Given the description of an element on the screen output the (x, y) to click on. 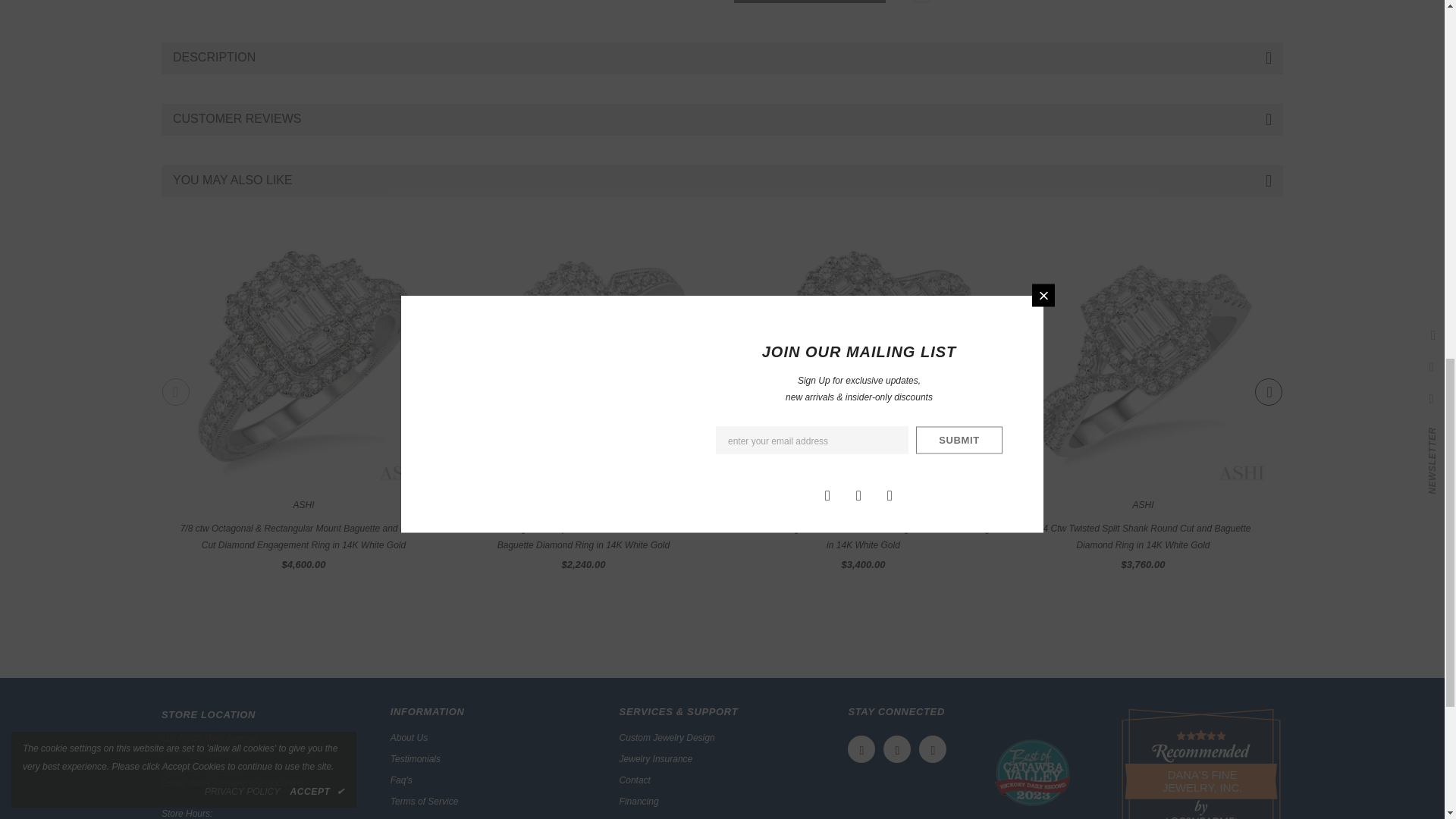
Add to Bag (809, 1)
